Given the description of an element on the screen output the (x, y) to click on. 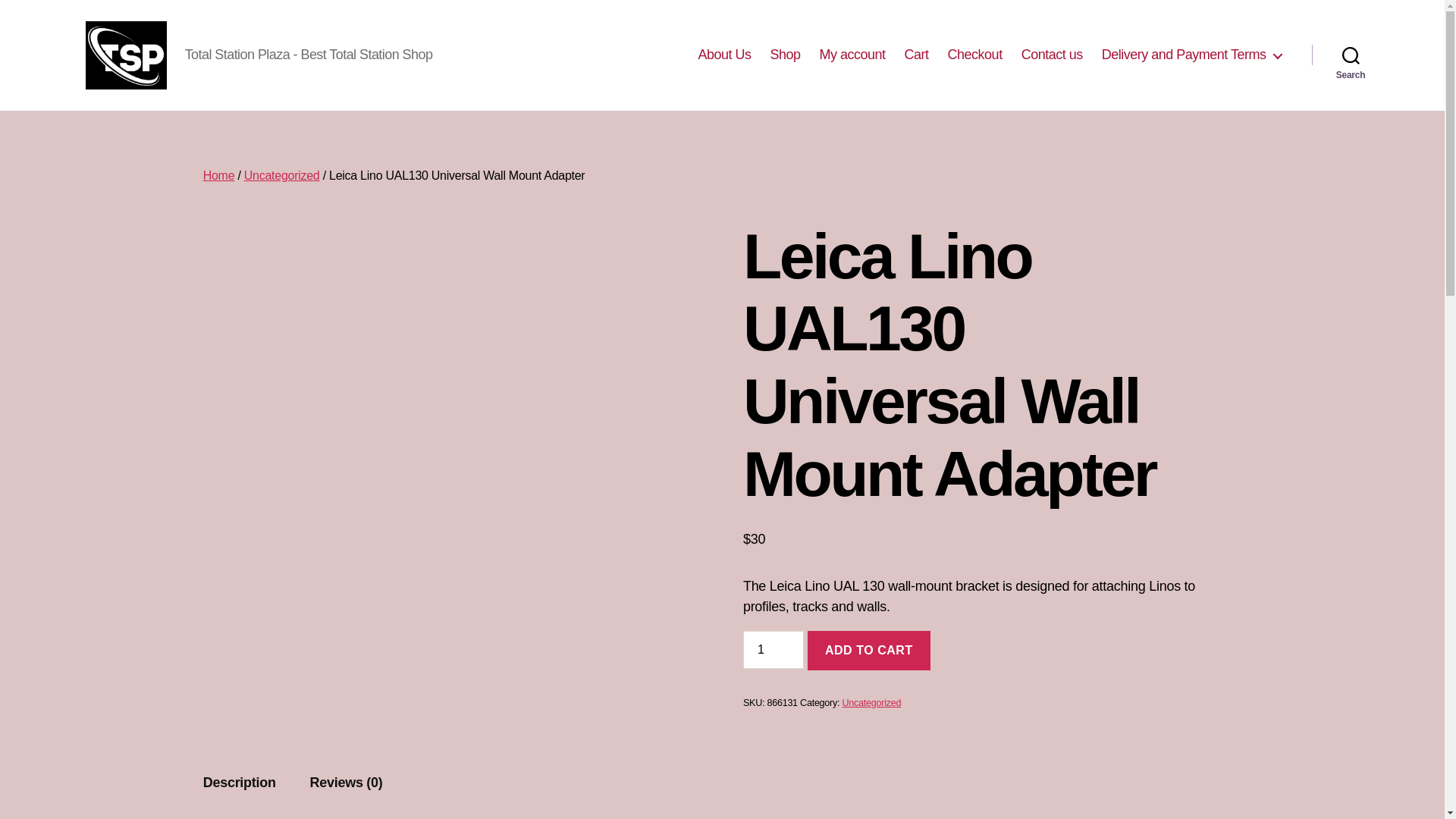
Cart (916, 54)
About Us (724, 54)
Home (218, 174)
Shop (784, 54)
Uncategorized (282, 174)
My account (851, 54)
Checkout (975, 54)
ADD TO CART (869, 649)
Uncategorized (871, 702)
Description (239, 782)
